Given the description of an element on the screen output the (x, y) to click on. 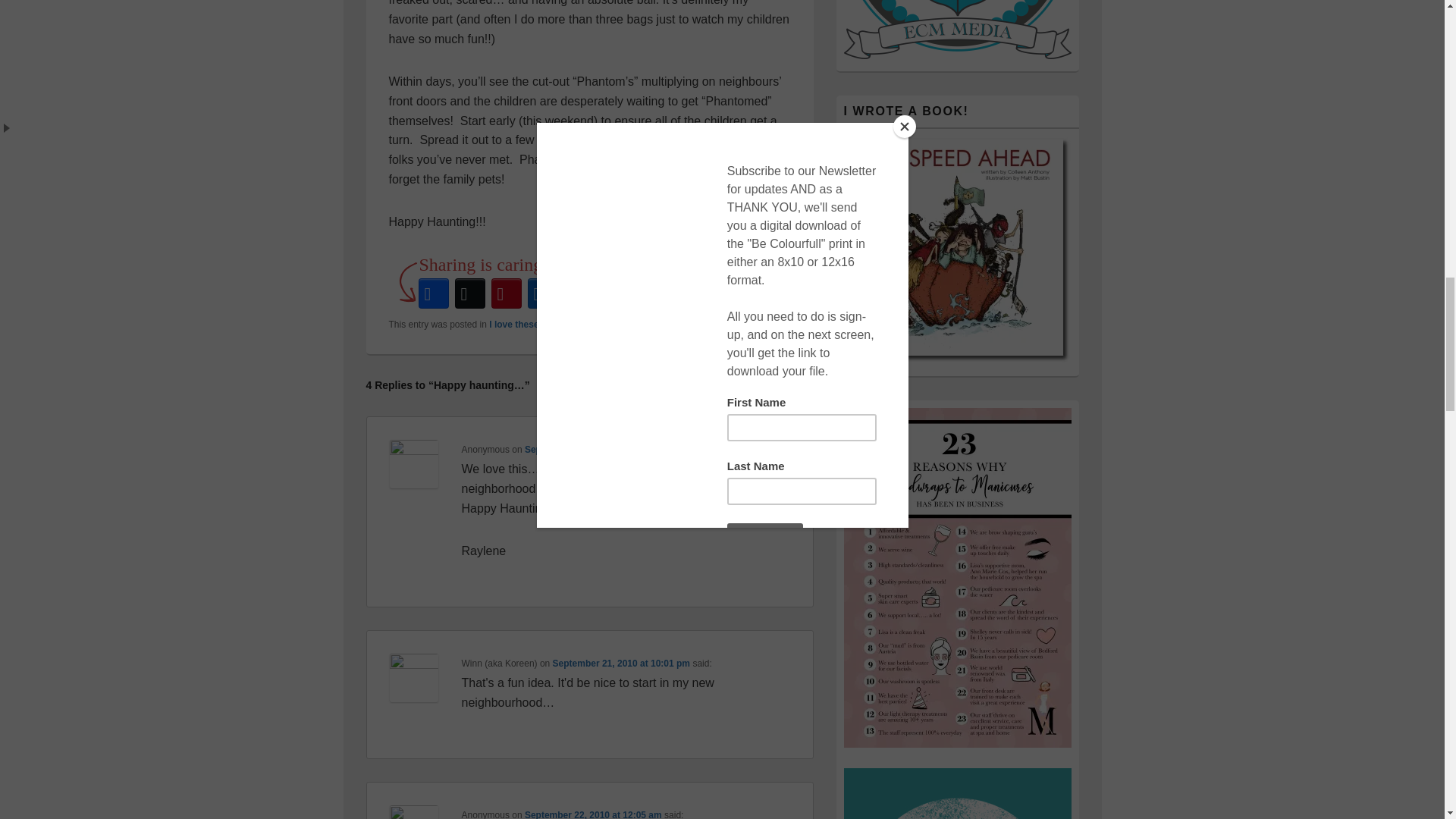
Colleen ODea (636, 324)
I love these little people (540, 324)
More Options (614, 293)
permalink (751, 324)
Pinterest (505, 293)
September 21, 2010 at 6:06 pm (591, 449)
September 22, 2010 at 12:05 am (593, 814)
LinkedIn (542, 293)
Email This (578, 293)
Facebook (432, 293)
September 21, 2010 at 10:01 pm (621, 663)
